Given the description of an element on the screen output the (x, y) to click on. 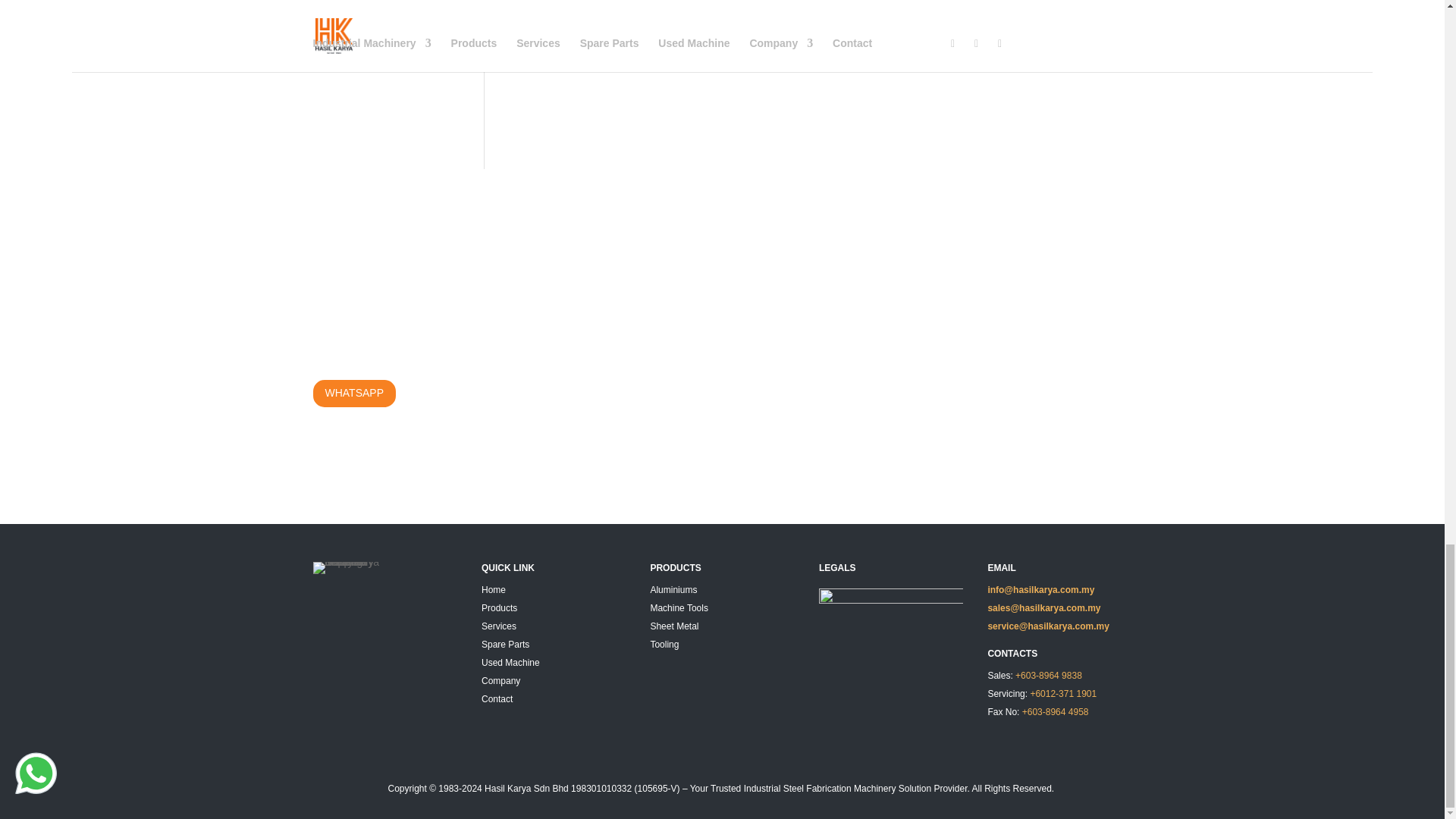
logo-white (350, 567)
Surface grinding in machine shop (830, 45)
lisence (890, 603)
